Given the description of an element on the screen output the (x, y) to click on. 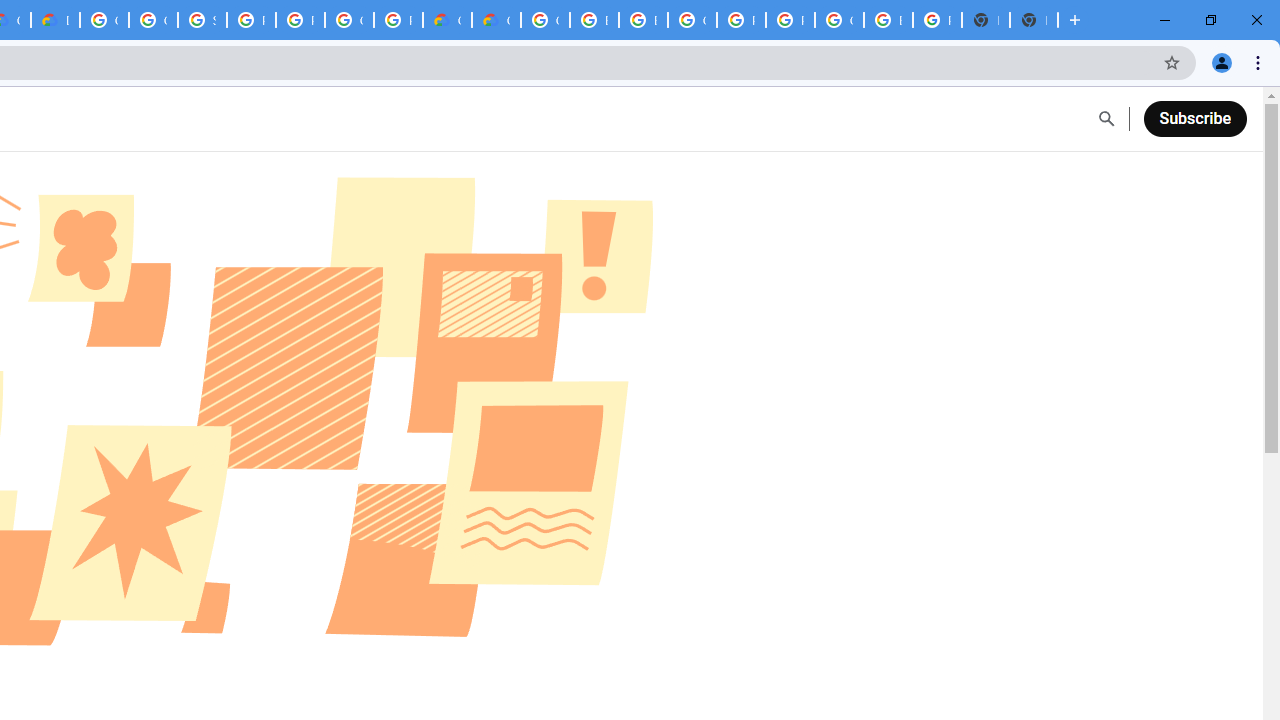
Google Cloud Platform (104, 20)
Google Cloud Platform (545, 20)
Google Cloud Platform (839, 20)
Browse Chrome as a guest - Computer - Google Chrome Help (643, 20)
Open Search (1106, 119)
Sign in - Google Accounts (201, 20)
Google Cloud Platform (349, 20)
